Given the description of an element on the screen output the (x, y) to click on. 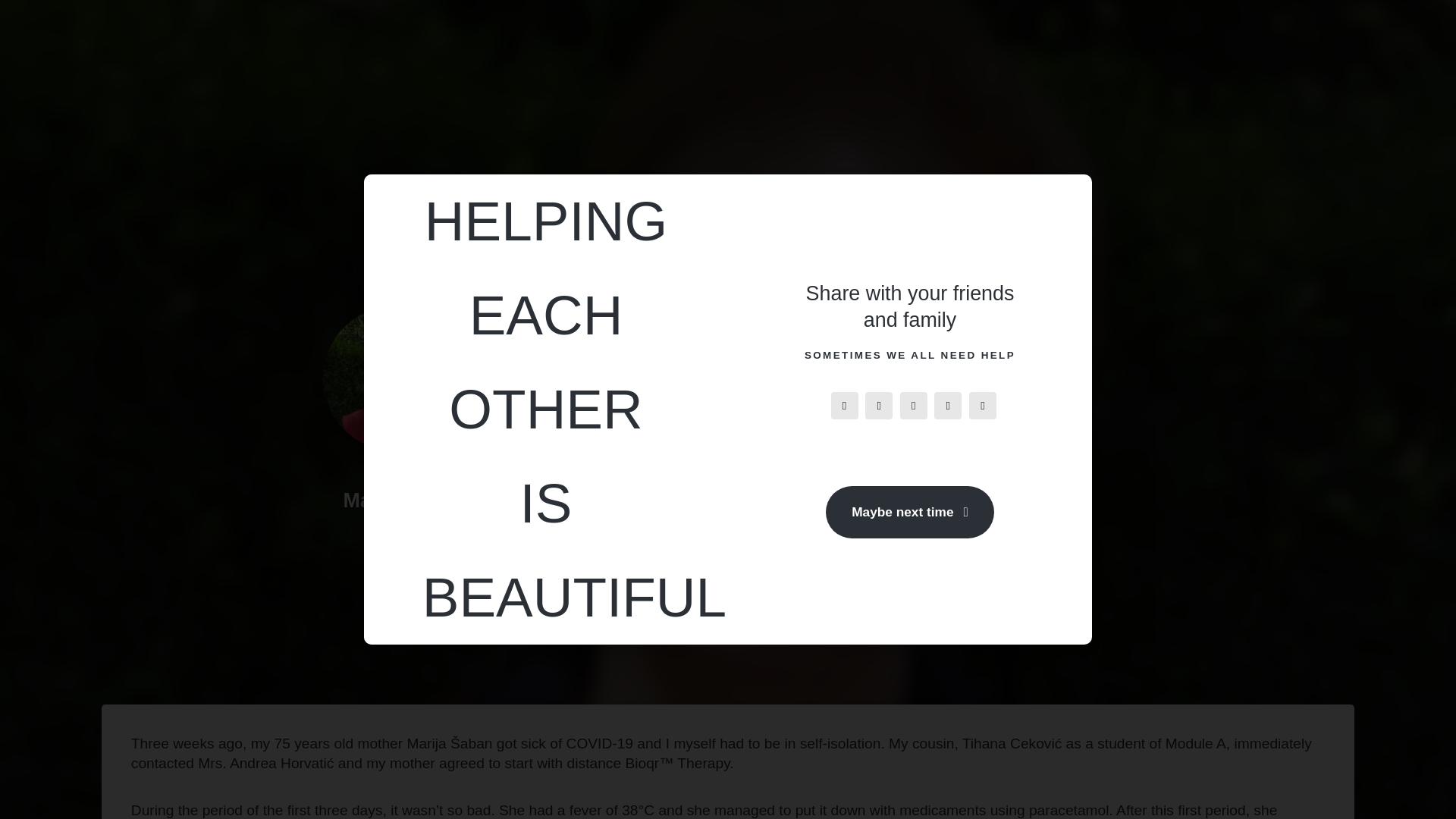
EDUCATION (909, 26)
CONTACT (1233, 26)
TREATMENTS (679, 26)
BOOKING (1150, 26)
TESTIMONIALS (797, 26)
CENTER (571, 26)
ABOUT (1008, 26)
BLOG (1080, 26)
